Given the description of an element on the screen output the (x, y) to click on. 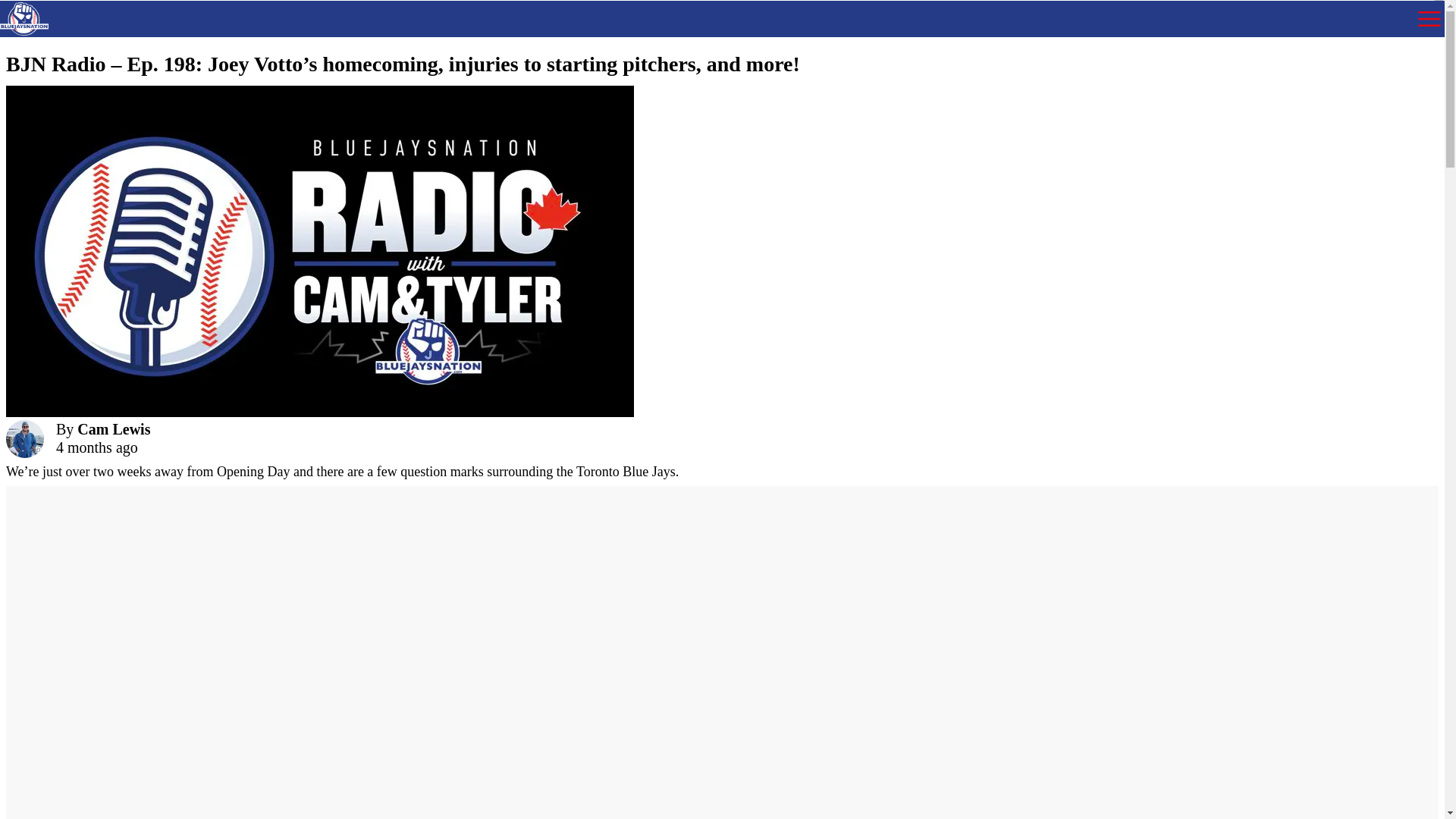
Cam Lewis (113, 428)
